Given the description of an element on the screen output the (x, y) to click on. 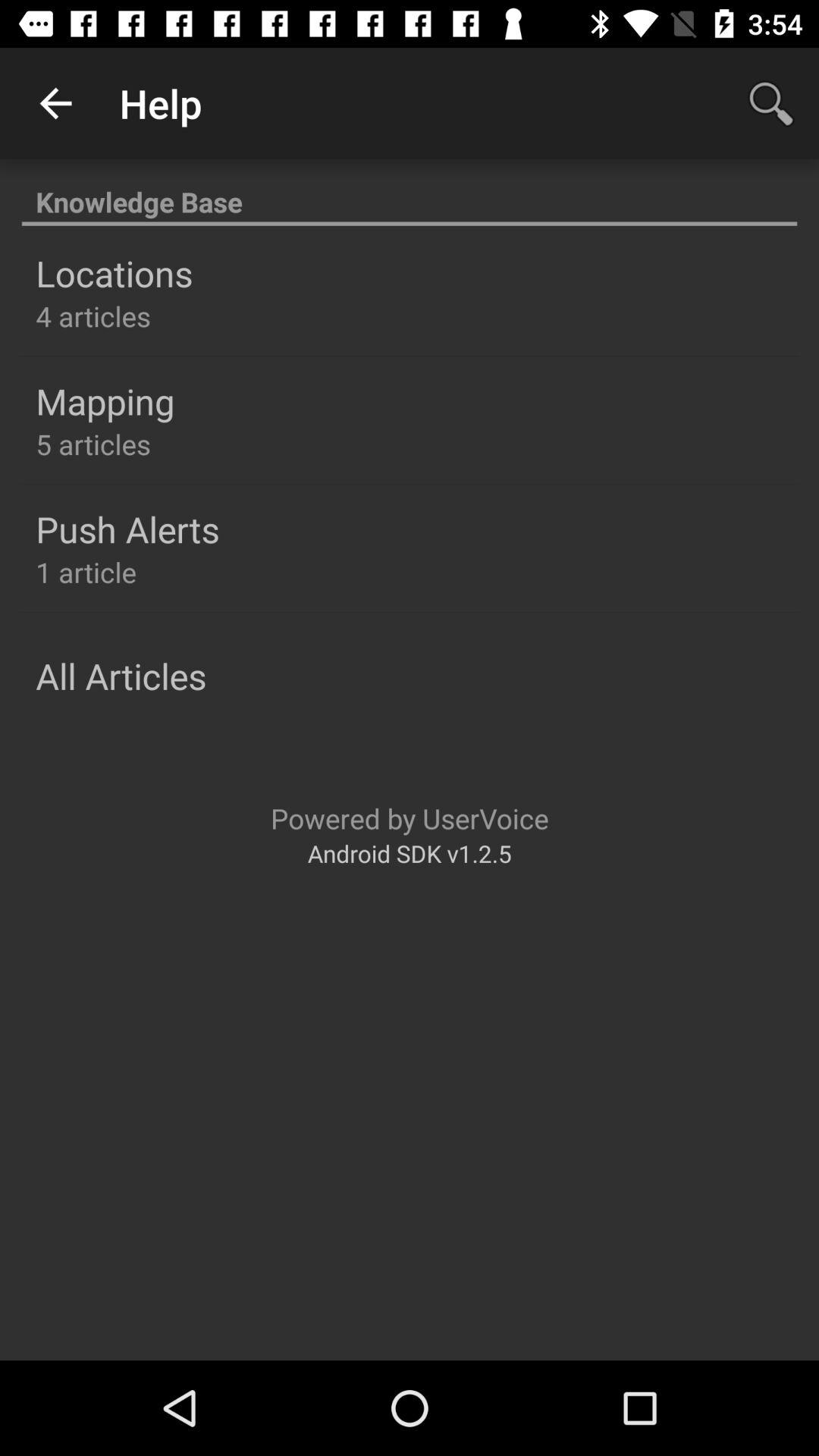
flip to the powered by uservoice item (409, 818)
